Given the description of an element on the screen output the (x, y) to click on. 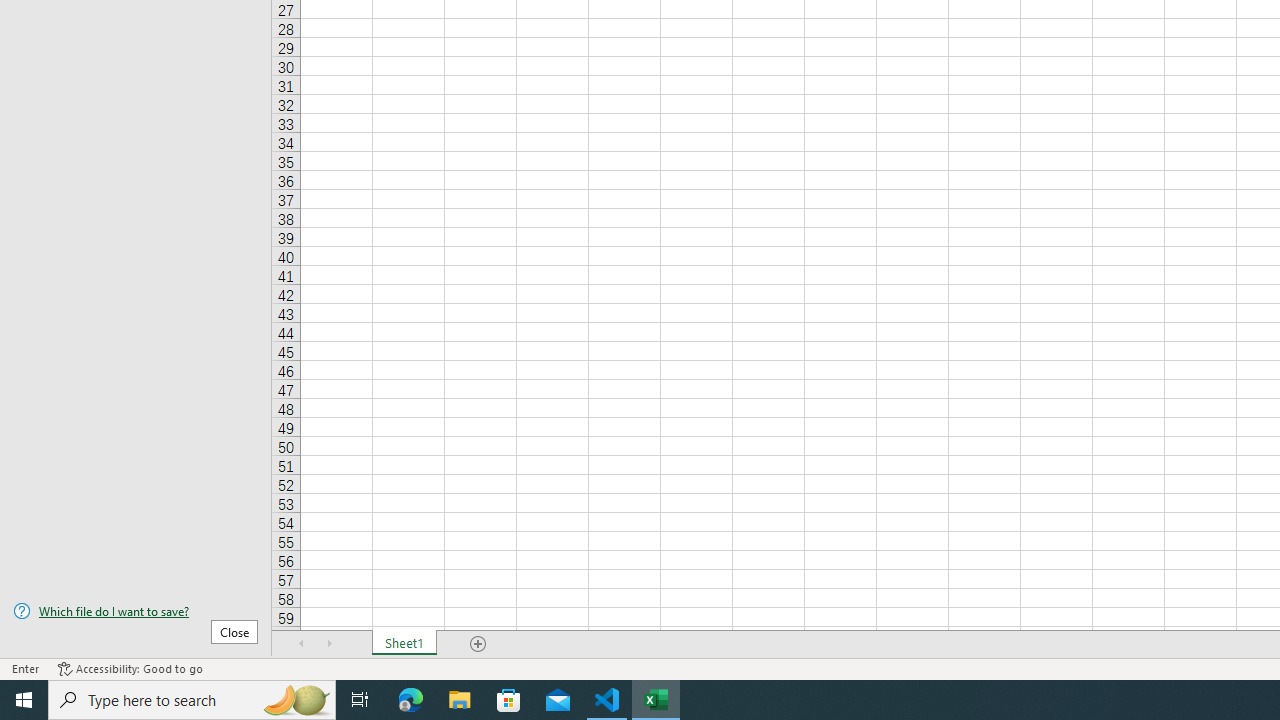
Close (234, 631)
Scroll Right (330, 644)
Scroll Left (302, 644)
Add Sheet (478, 644)
Accessibility Checker Accessibility: Good to go (130, 668)
Which file do I want to save? (136, 611)
Sheet1 (404, 644)
